Given the description of an element on the screen output the (x, y) to click on. 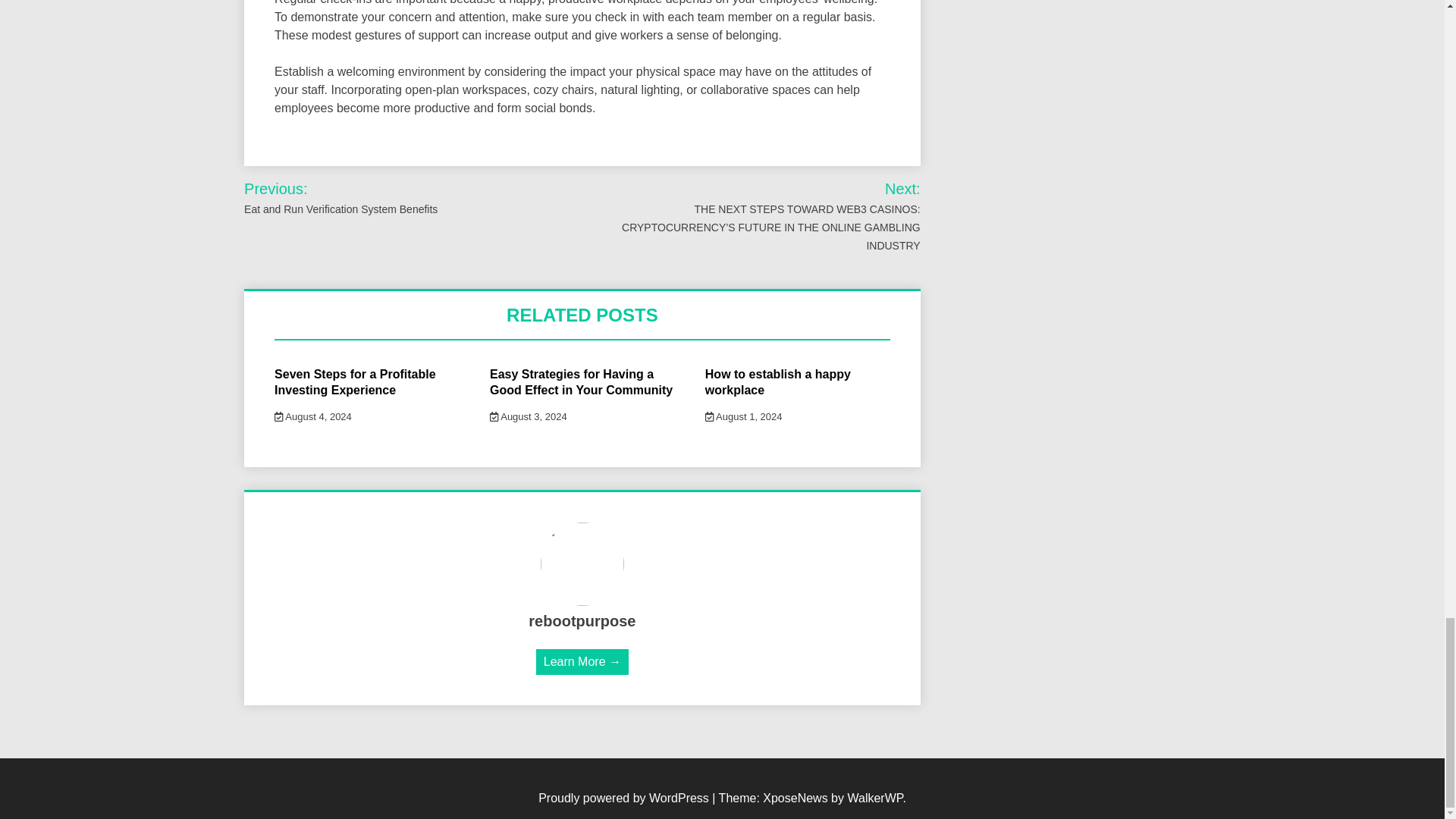
August 4, 2024 (313, 416)
August 1, 2024 (743, 416)
August 3, 2024 (528, 416)
How to establish a happy workplace (777, 381)
Seven Steps for a Profitable Investing Experience (355, 381)
Previous: Eat and Run Verification System Benefits (373, 197)
Easy Strategies for Having a Good Effect in Your Community (580, 381)
